Given the description of an element on the screen output the (x, y) to click on. 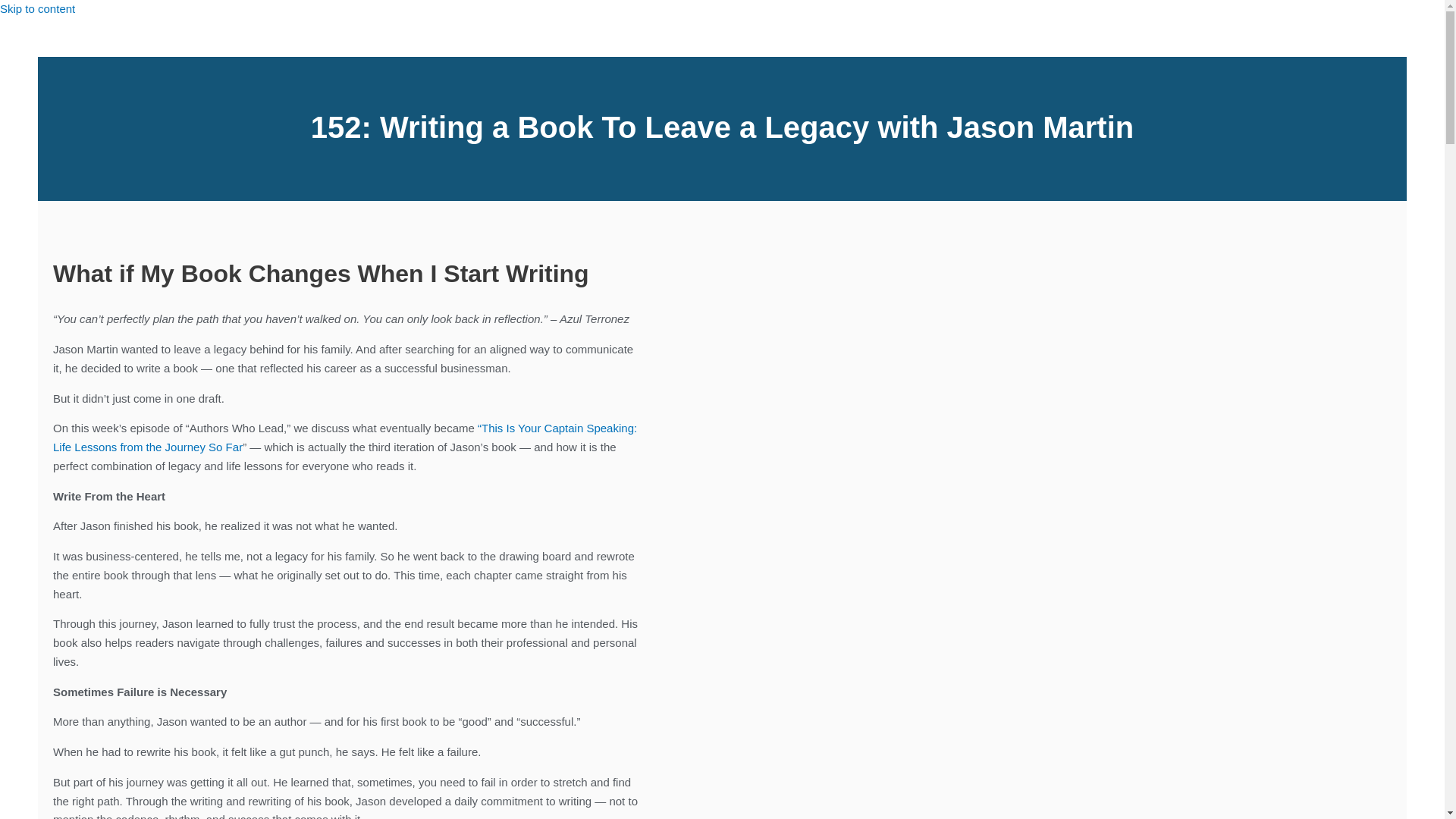
Skip to content (37, 8)
Skip to content (37, 8)
